Given the description of an element on the screen output the (x, y) to click on. 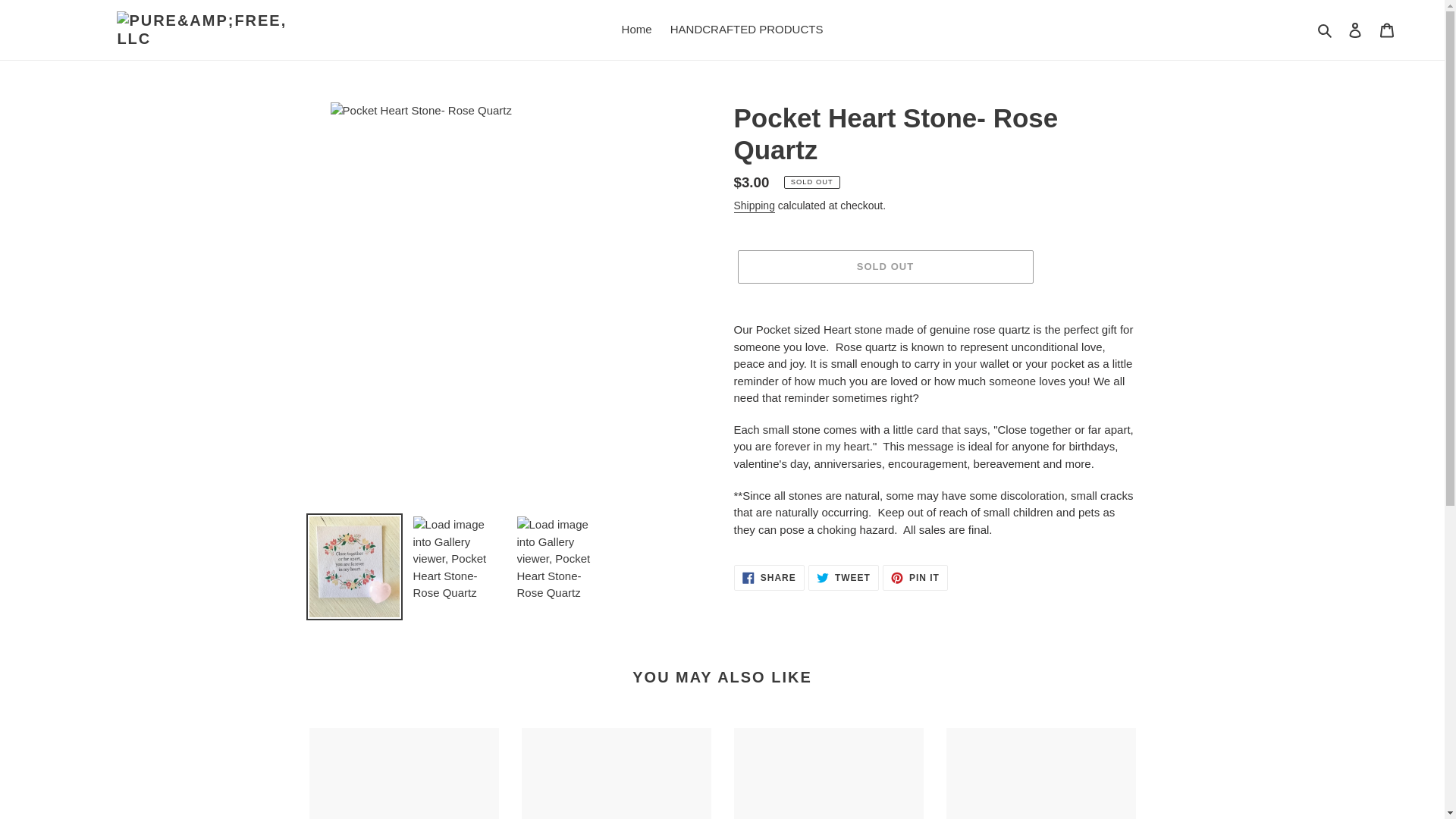
Women's Facial Toner (843, 577)
Search (1040, 773)
Shipping (769, 577)
Women's Hyaluronic Acid Facial Gel (1326, 29)
Women's Facial Cleanser (753, 205)
HANDCRAFTED PRODUCTS (616, 773)
SOLD OUT (403, 773)
